Given the description of an element on the screen output the (x, y) to click on. 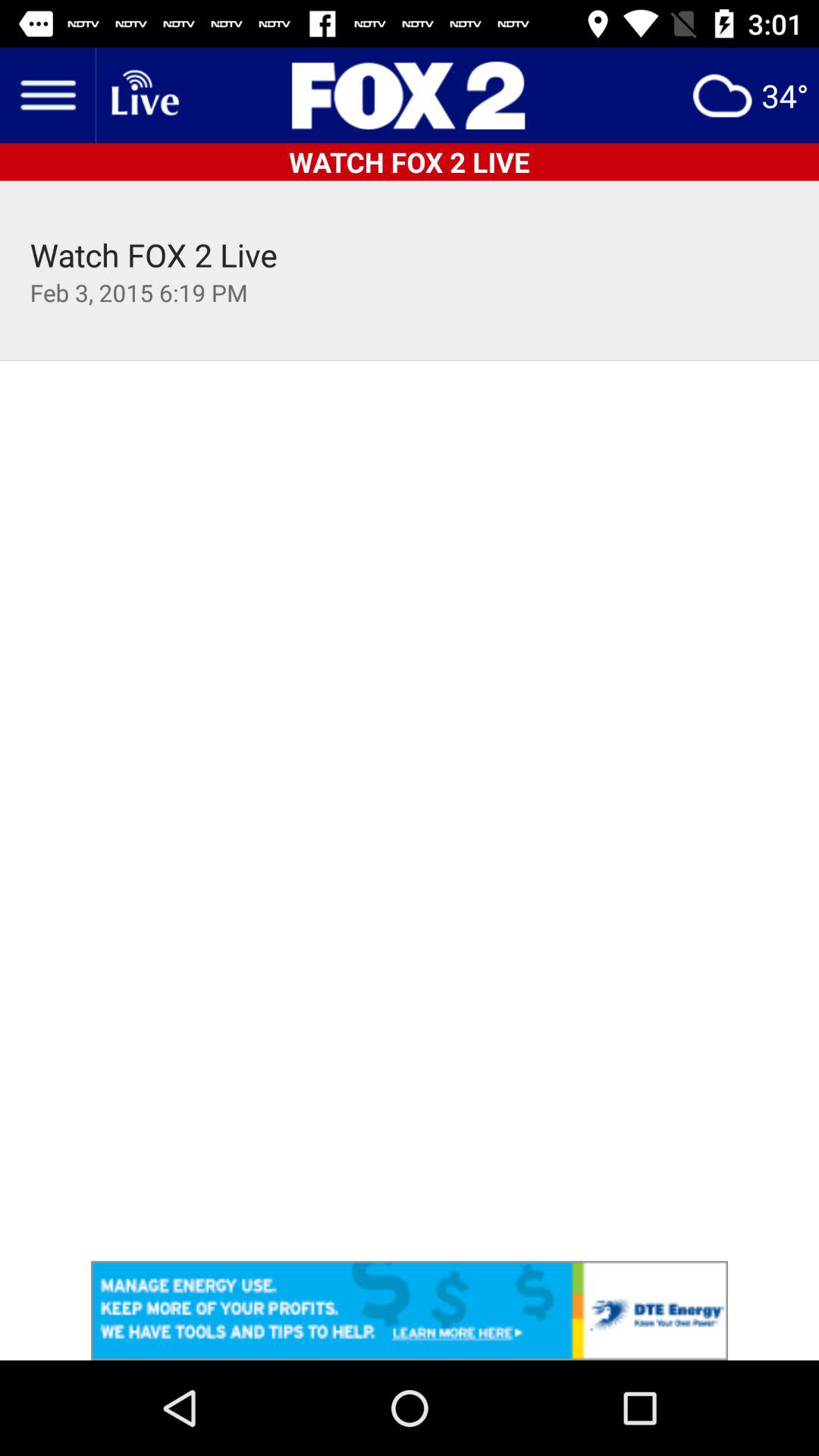
select the text just before the header (143, 95)
